Given the description of an element on the screen output the (x, y) to click on. 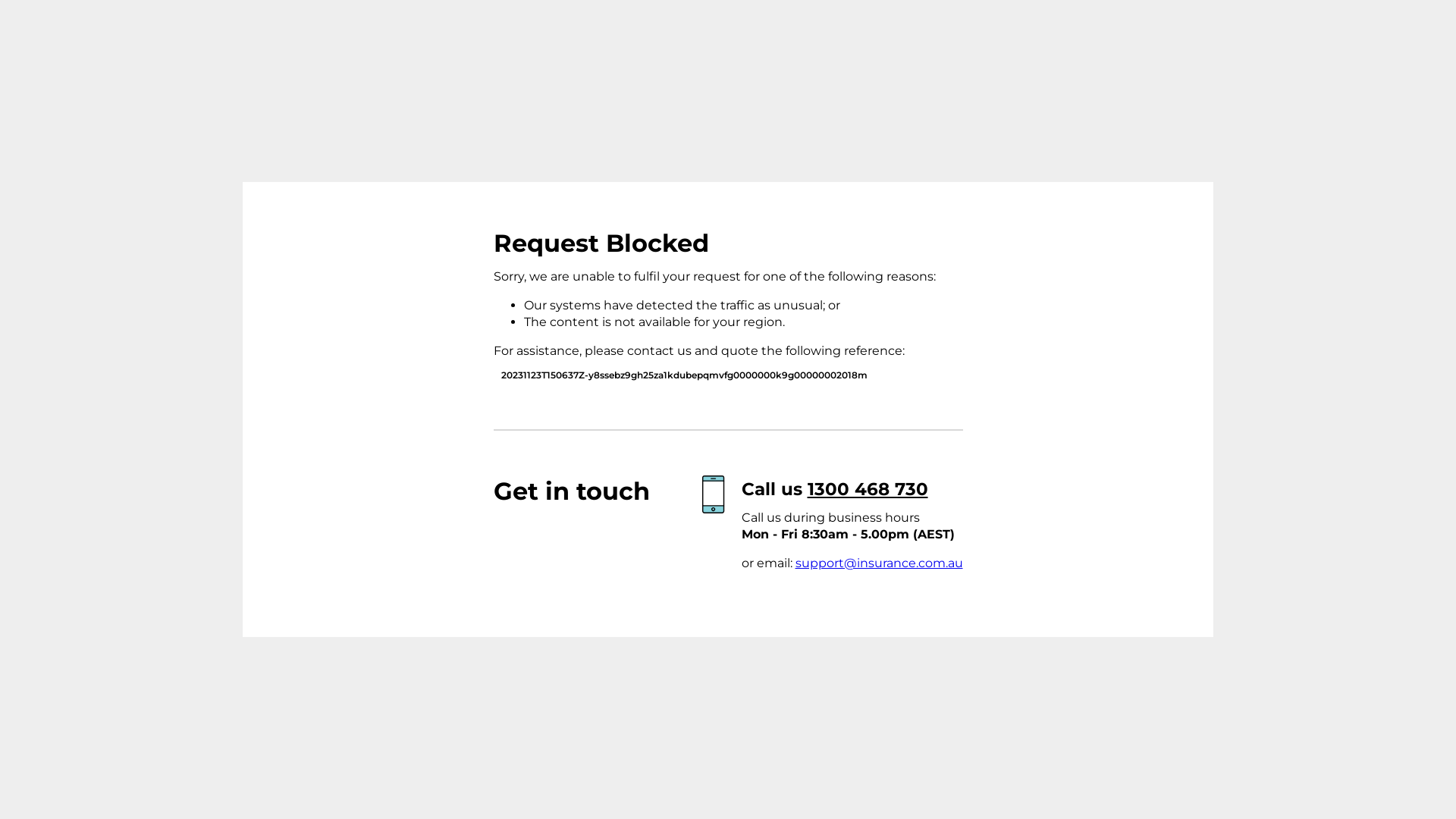
Insurance.com.au Element type: text (383, 273)
support@insurance.com.au Element type: text (878, 562)
1300 468 730 Element type: text (866, 488)
